Given the description of an element on the screen output the (x, y) to click on. 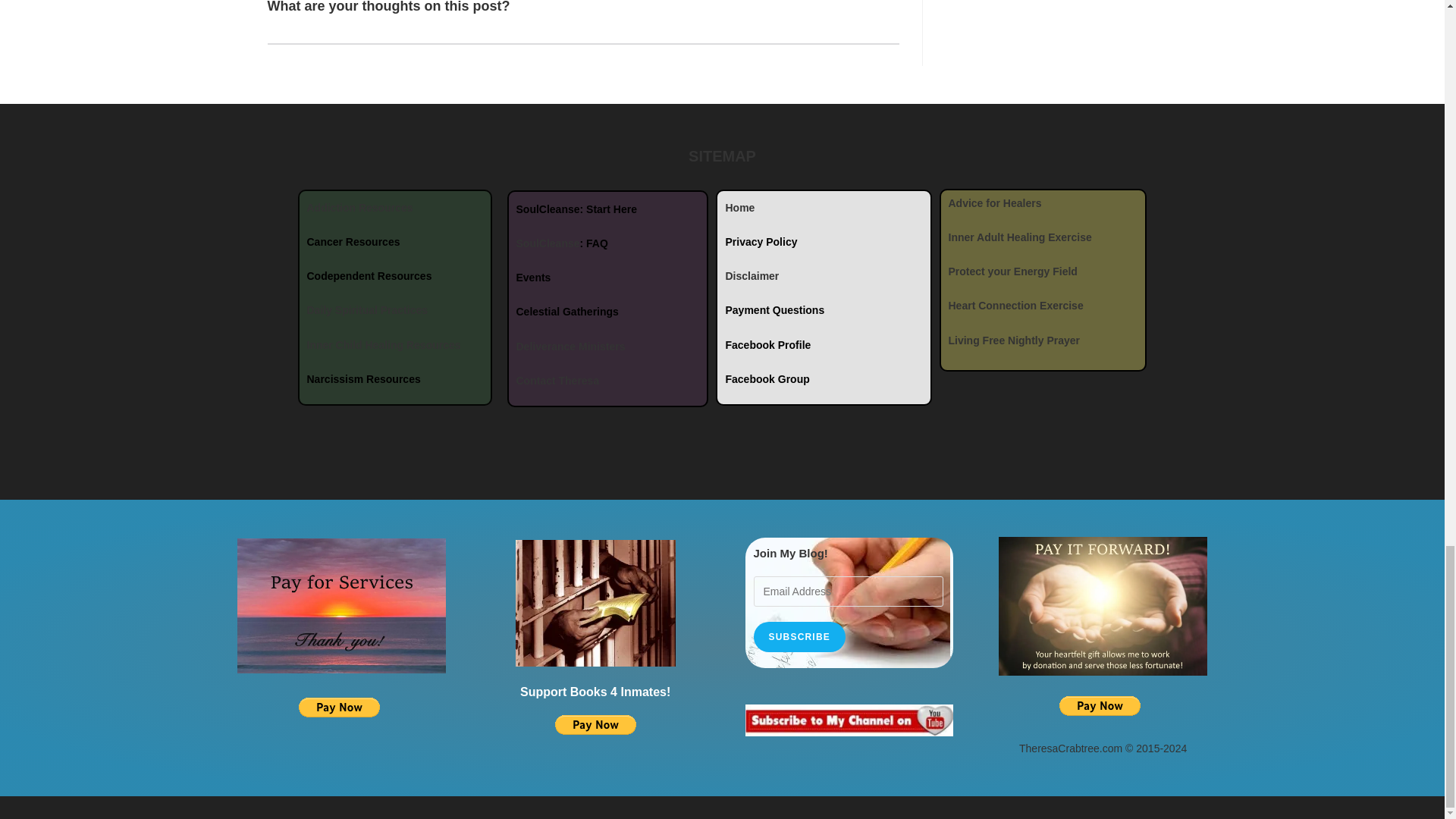
Daily Spiritual Practices (366, 309)
SoulCleanse: Start Here (576, 209)
PayPal - The safer, easier way to pay online! (1099, 705)
SoulCleanse (547, 243)
Codependent Resources (367, 275)
Cancer Resources (351, 241)
Inner Child Healing Resources (382, 345)
Narcissism Resources (362, 378)
Addiction Resources (358, 207)
